Given the description of an element on the screen output the (x, y) to click on. 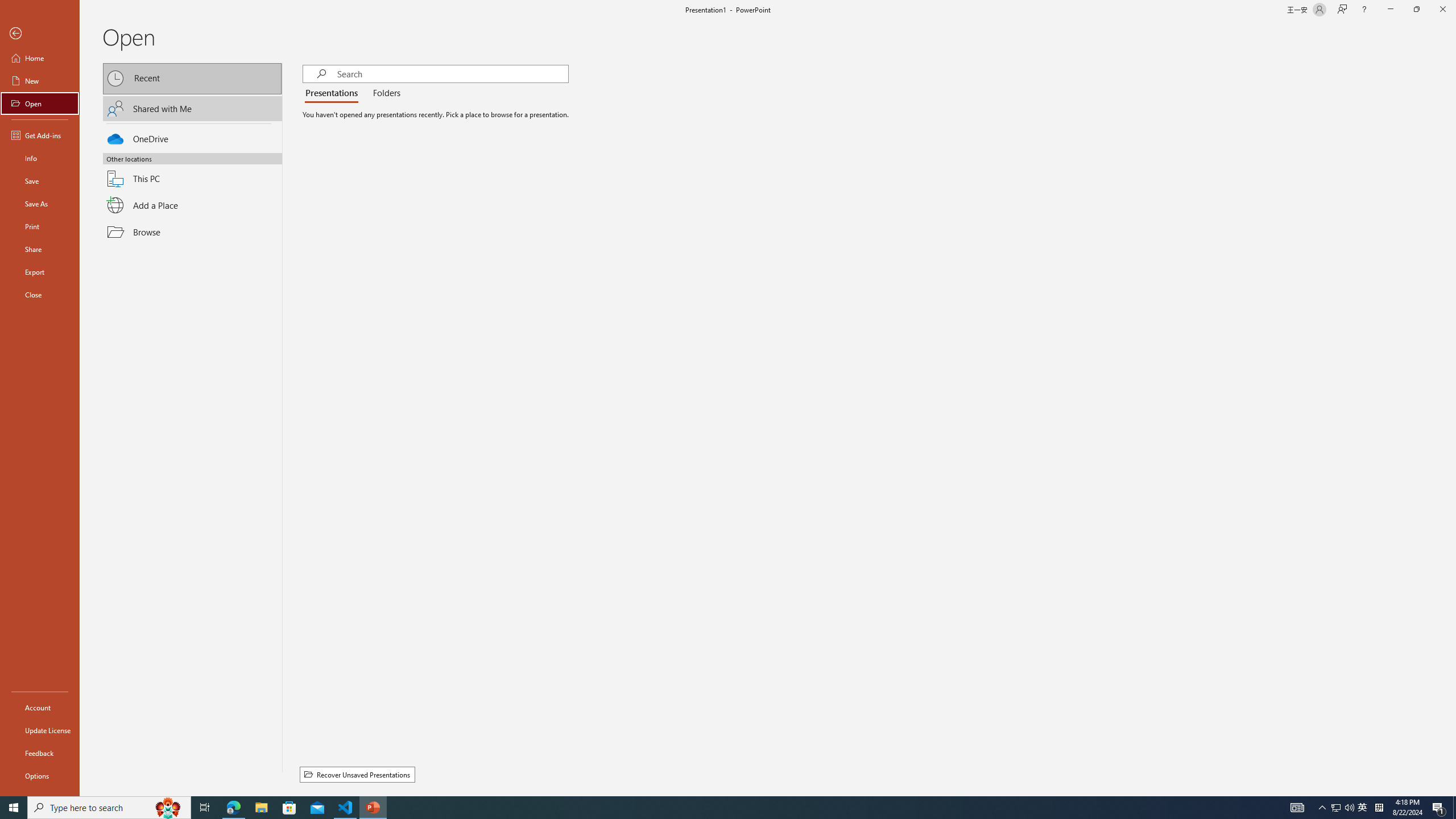
Info (40, 157)
Recover Unsaved Presentations (356, 774)
Recent (192, 78)
Export (40, 271)
Account (40, 707)
Feedback (40, 753)
This PC (192, 171)
Shared with Me (192, 108)
Update License (40, 730)
Folders (384, 93)
OneDrive (192, 136)
Get Add-ins (40, 134)
